Given the description of an element on the screen output the (x, y) to click on. 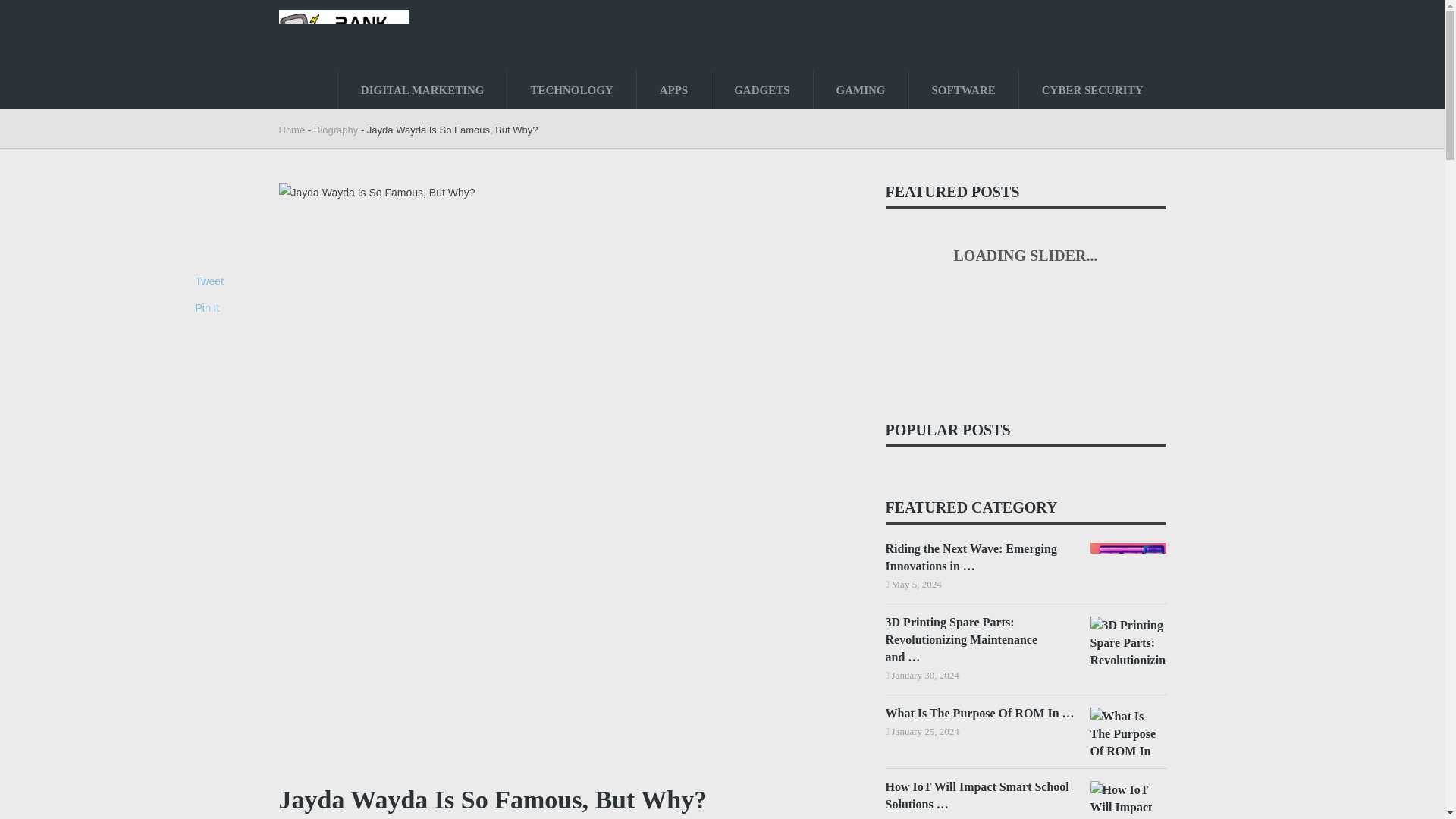
DIGITAL MARKETING (421, 89)
SOFTWARE (962, 89)
CYBER SECURITY (1092, 89)
Biography (336, 129)
APPS (674, 89)
TECHNOLOGY (570, 89)
GAMING (860, 89)
Tweet (209, 281)
Home (292, 129)
